Given the description of an element on the screen output the (x, y) to click on. 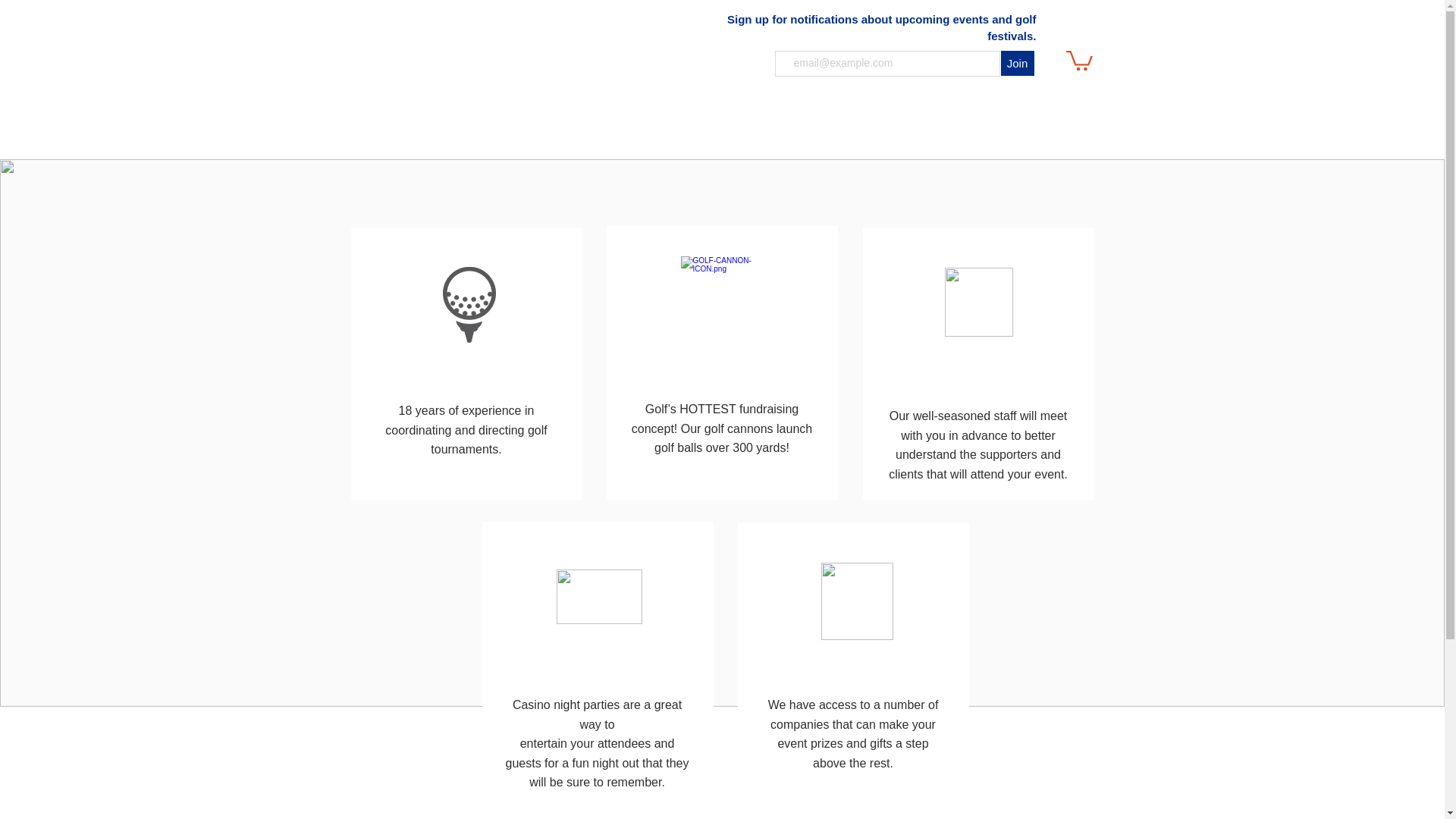
SILENT-AUCTION-ICON.png (978, 301)
CASINO-PARTY-ICON.png (599, 596)
EVENT-SIGNAGE-ICON.png (856, 600)
SPECIAL-EVENTS-ICON.png (725, 300)
Join (1017, 63)
